Given the description of an element on the screen output the (x, y) to click on. 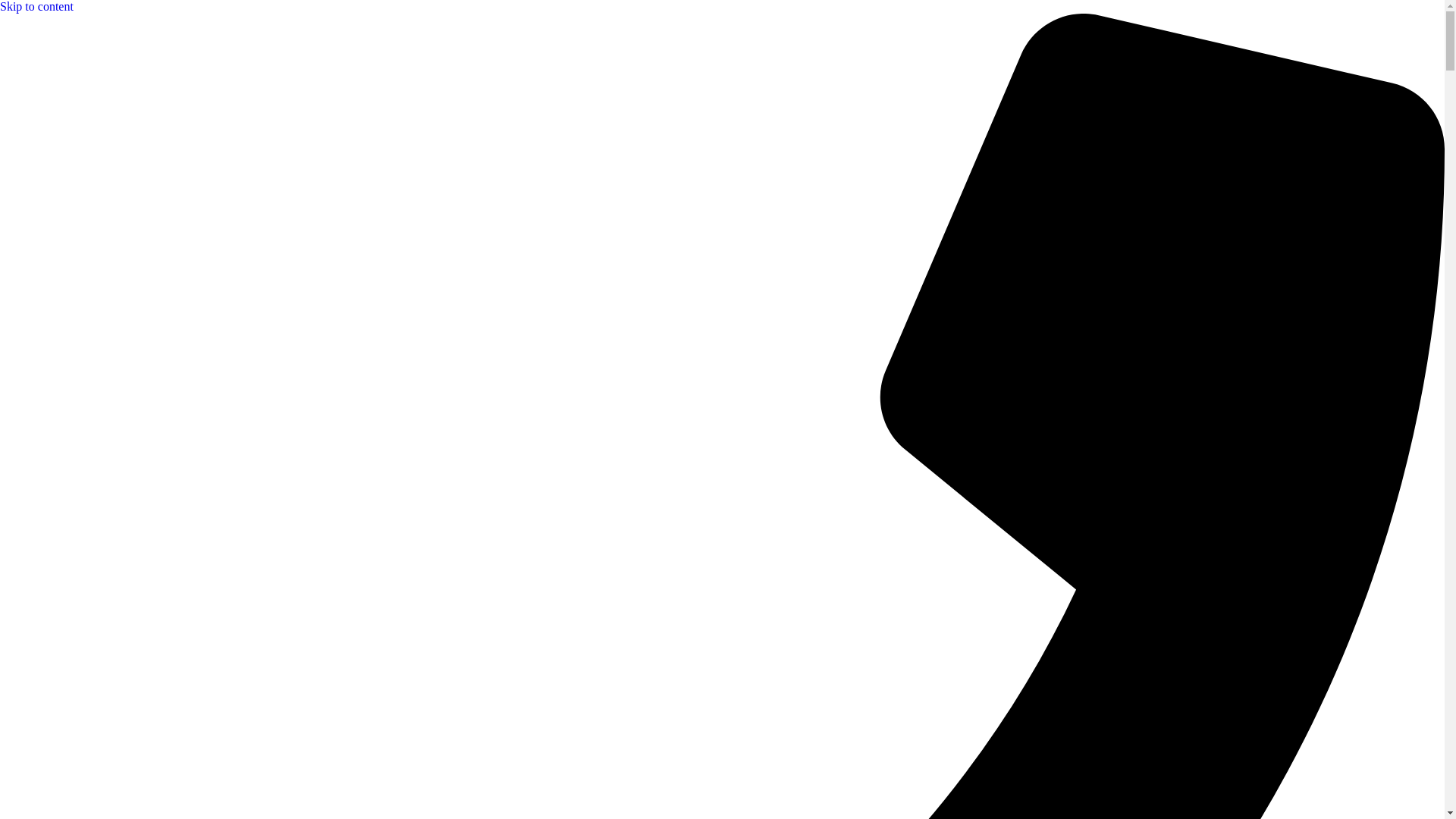
Skip to content (37, 6)
Skip to content (37, 6)
